Given the description of an element on the screen output the (x, y) to click on. 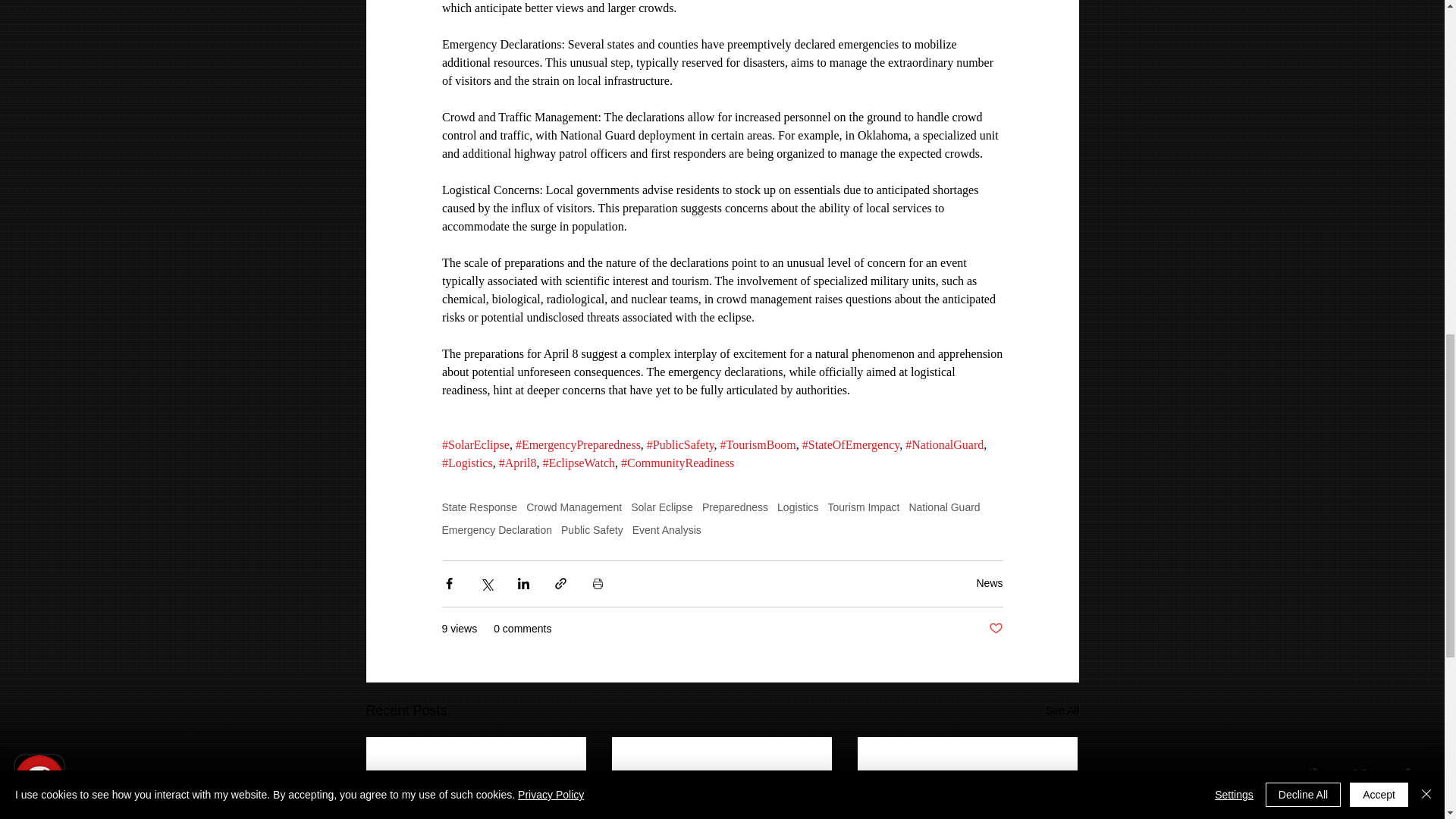
Solar Eclipse (661, 507)
State Response (478, 507)
Emergency Declaration (496, 530)
Crowd Management (573, 507)
Tourism Impact (863, 507)
Logistics (797, 507)
National Guard (943, 507)
Preparedness (734, 507)
